Given the description of an element on the screen output the (x, y) to click on. 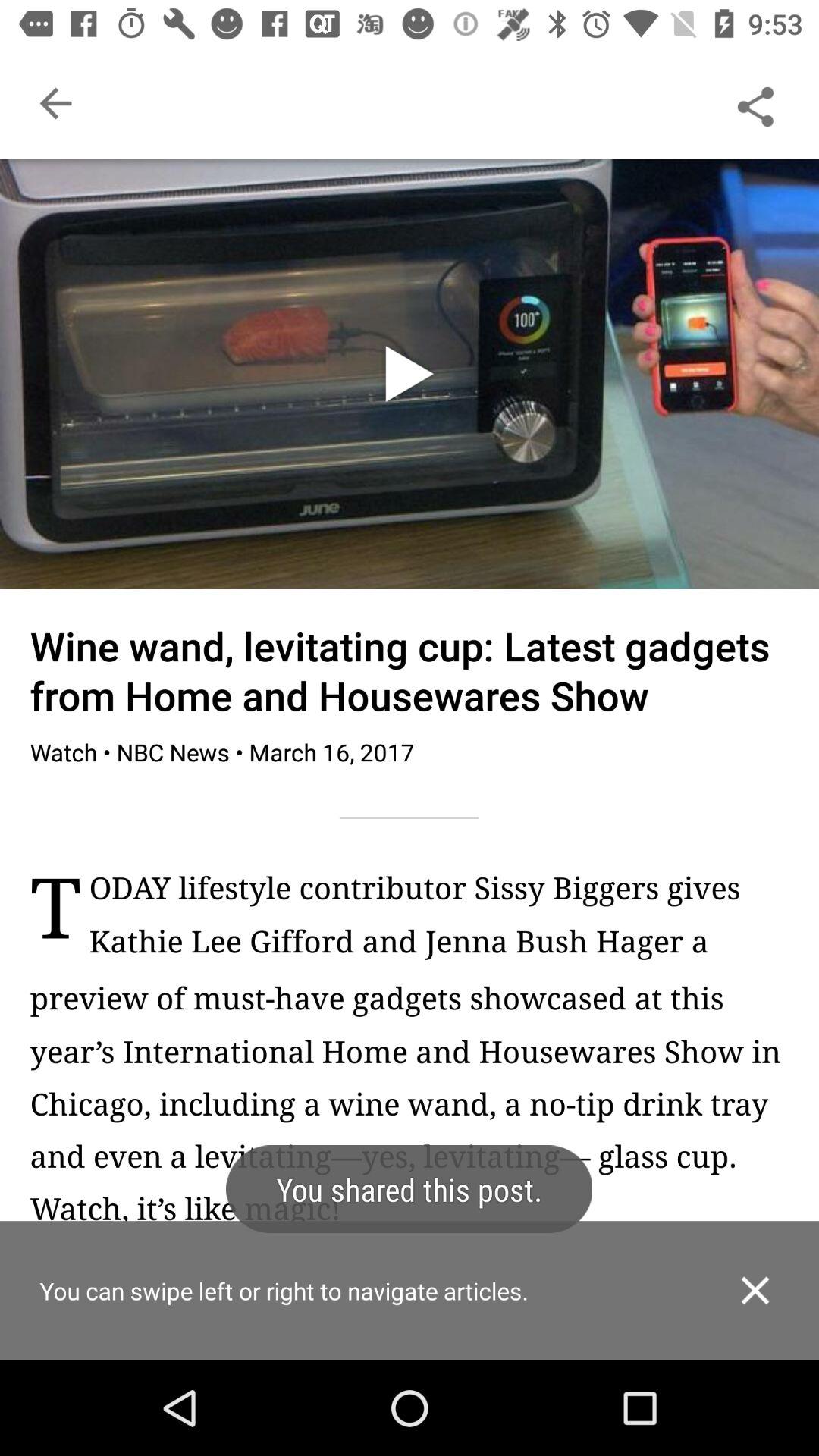
close the option (755, 1290)
